Given the description of an element on the screen output the (x, y) to click on. 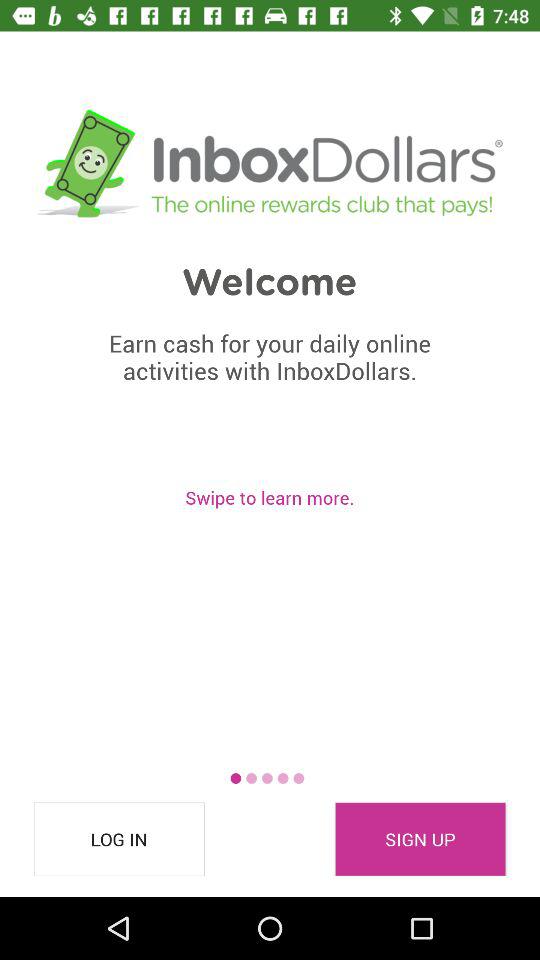
jump to the sign up icon (420, 839)
